Given the description of an element on the screen output the (x, y) to click on. 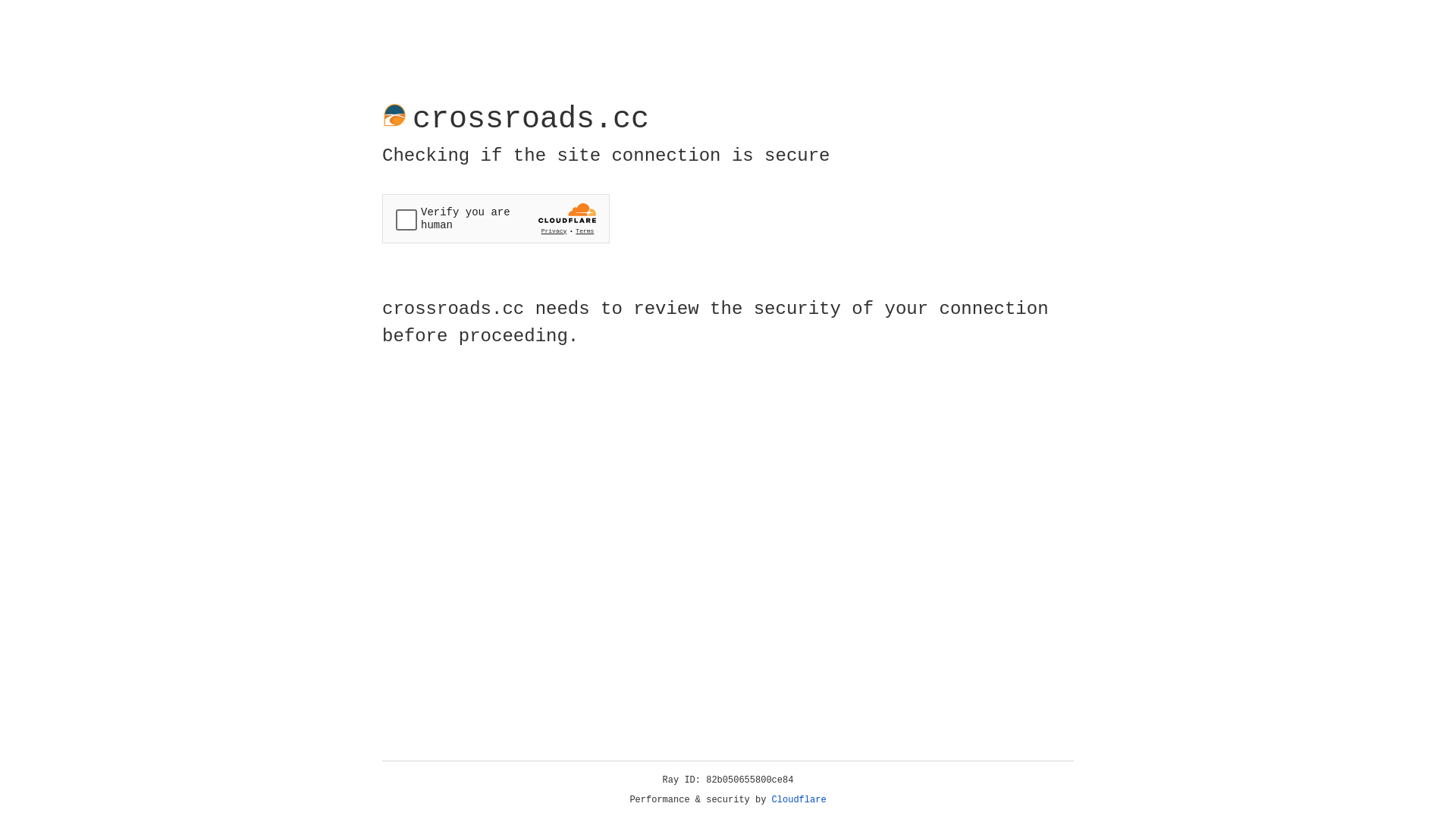
Cloudflare Element type: text (798, 799)
Widget containing a Cloudflare security challenge Element type: hover (495, 218)
